Given the description of an element on the screen output the (x, y) to click on. 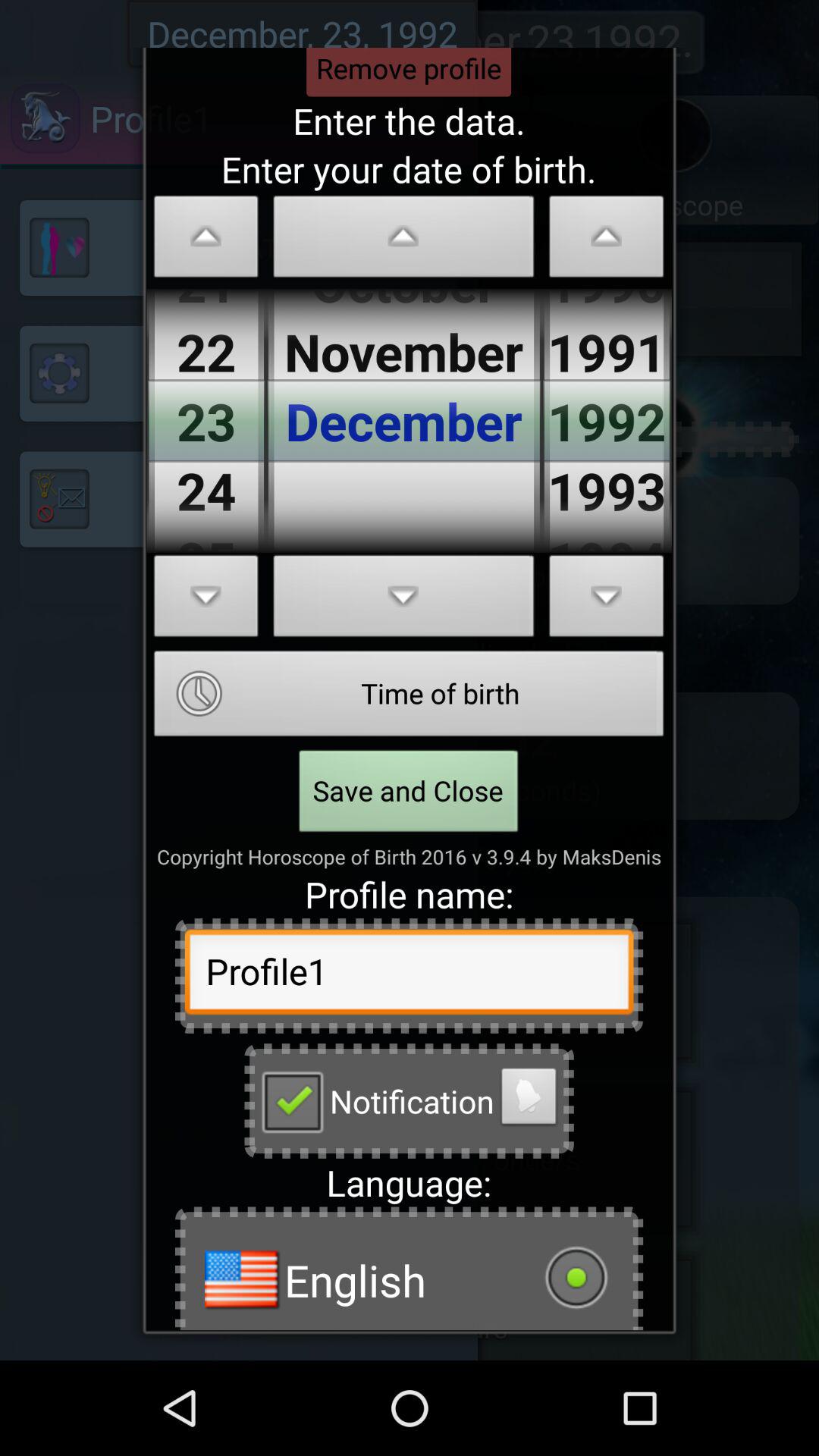
change year (606, 600)
